Given the description of an element on the screen output the (x, y) to click on. 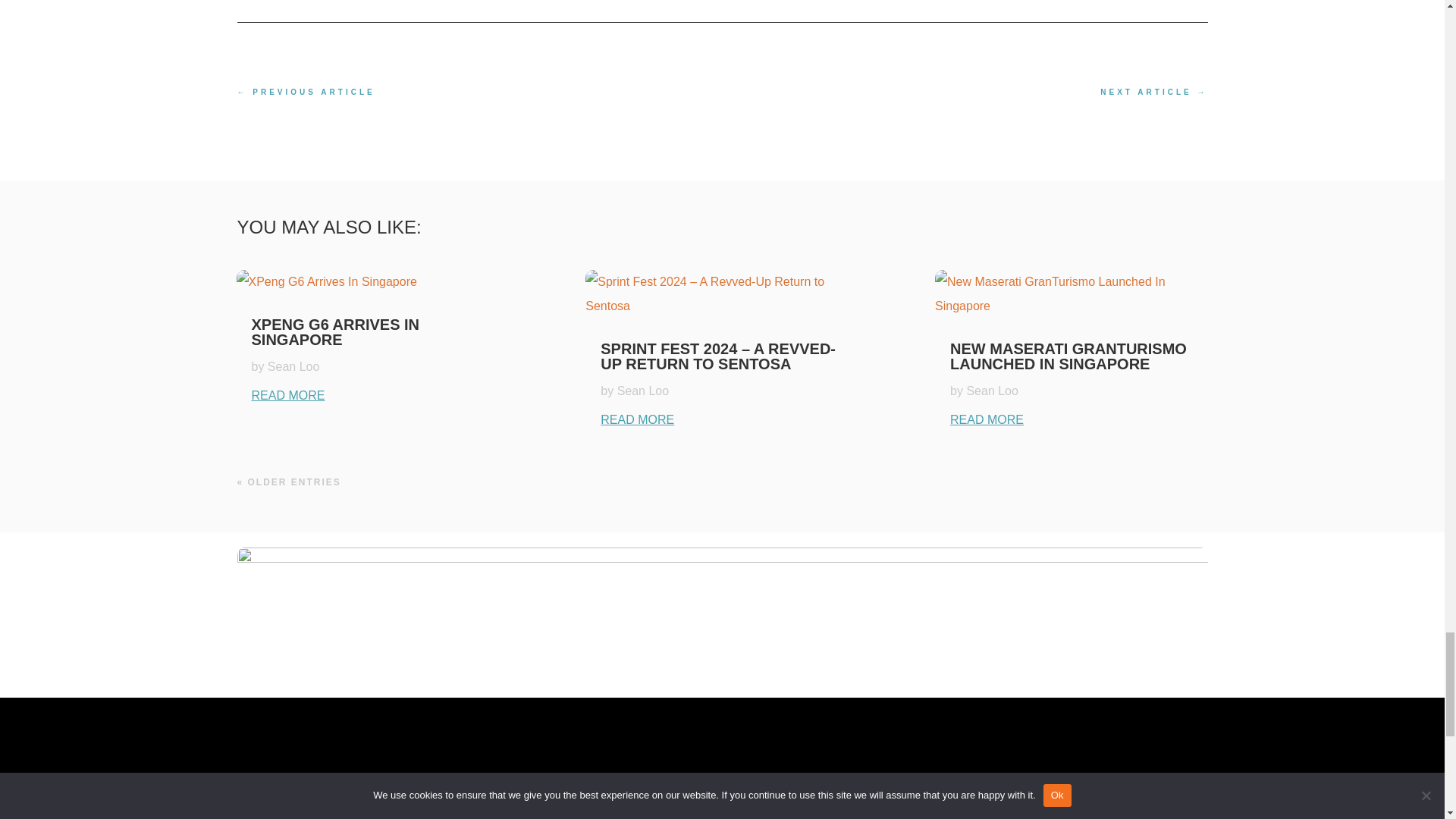
Posts by Sean Loo (293, 365)
Posts by Sean Loo (643, 390)
autoapp super tyre deals longer copy (721, 615)
Posts by Sean Loo (991, 390)
